Given the description of an element on the screen output the (x, y) to click on. 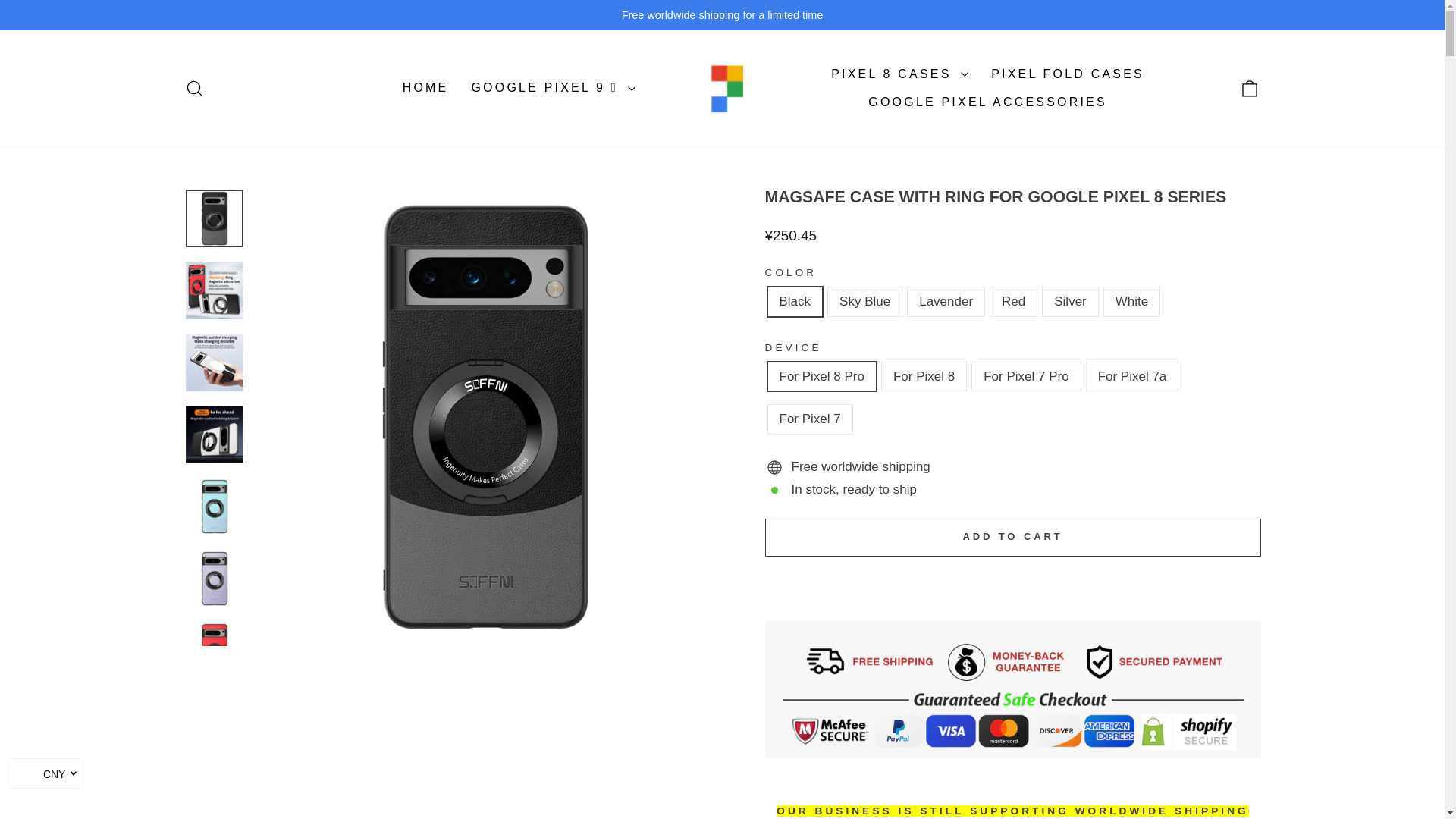
HOME (425, 88)
ICON-BAG-MINIMAL (1249, 87)
ICON-SEARCH (194, 88)
For Pixel 8 (194, 87)
